Given the description of an element on the screen output the (x, y) to click on. 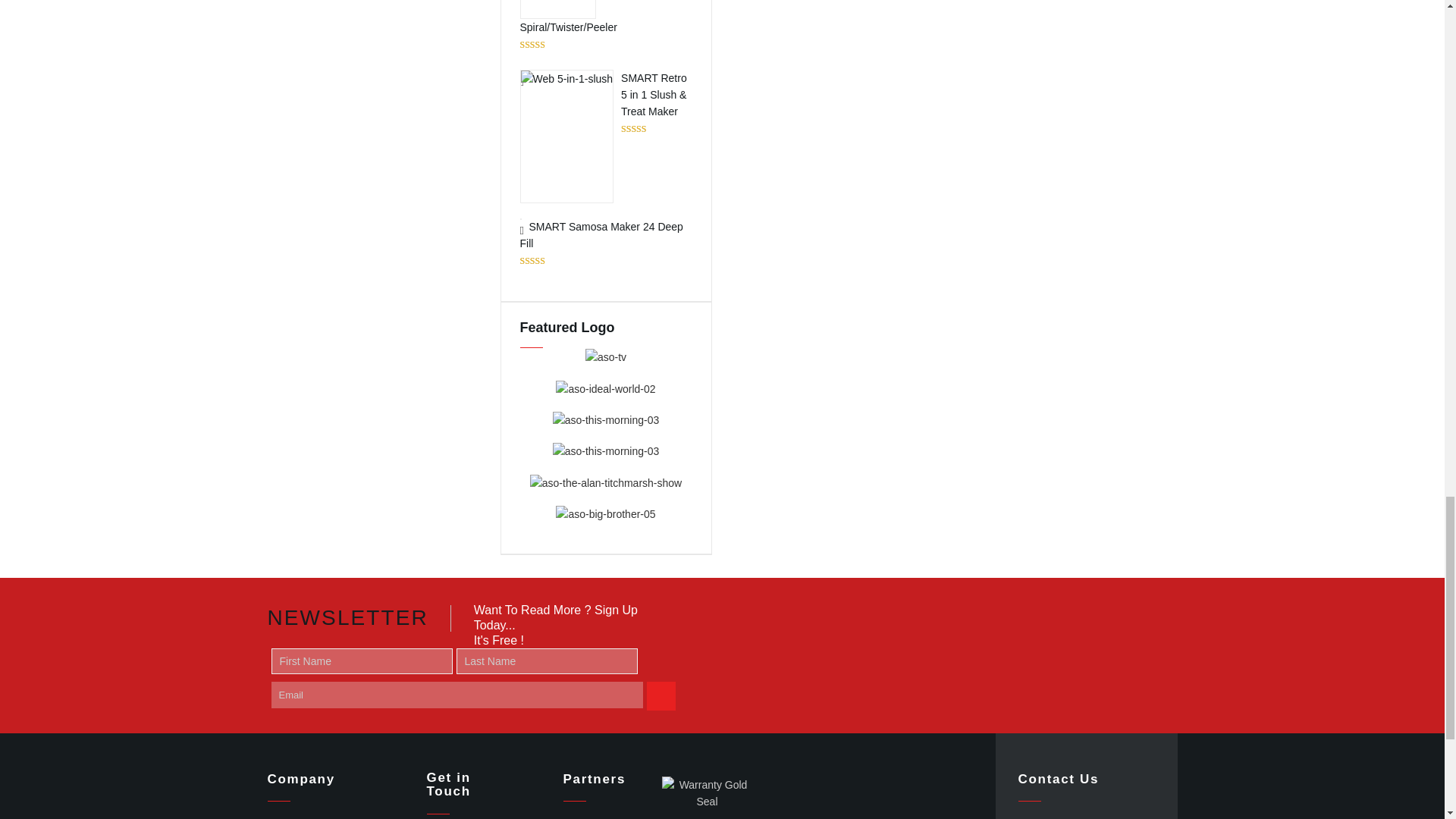
Subscribe (660, 695)
SMART Samosa Maker 24 Deep Fill (606, 234)
Subscribe (660, 695)
